Given the description of an element on the screen output the (x, y) to click on. 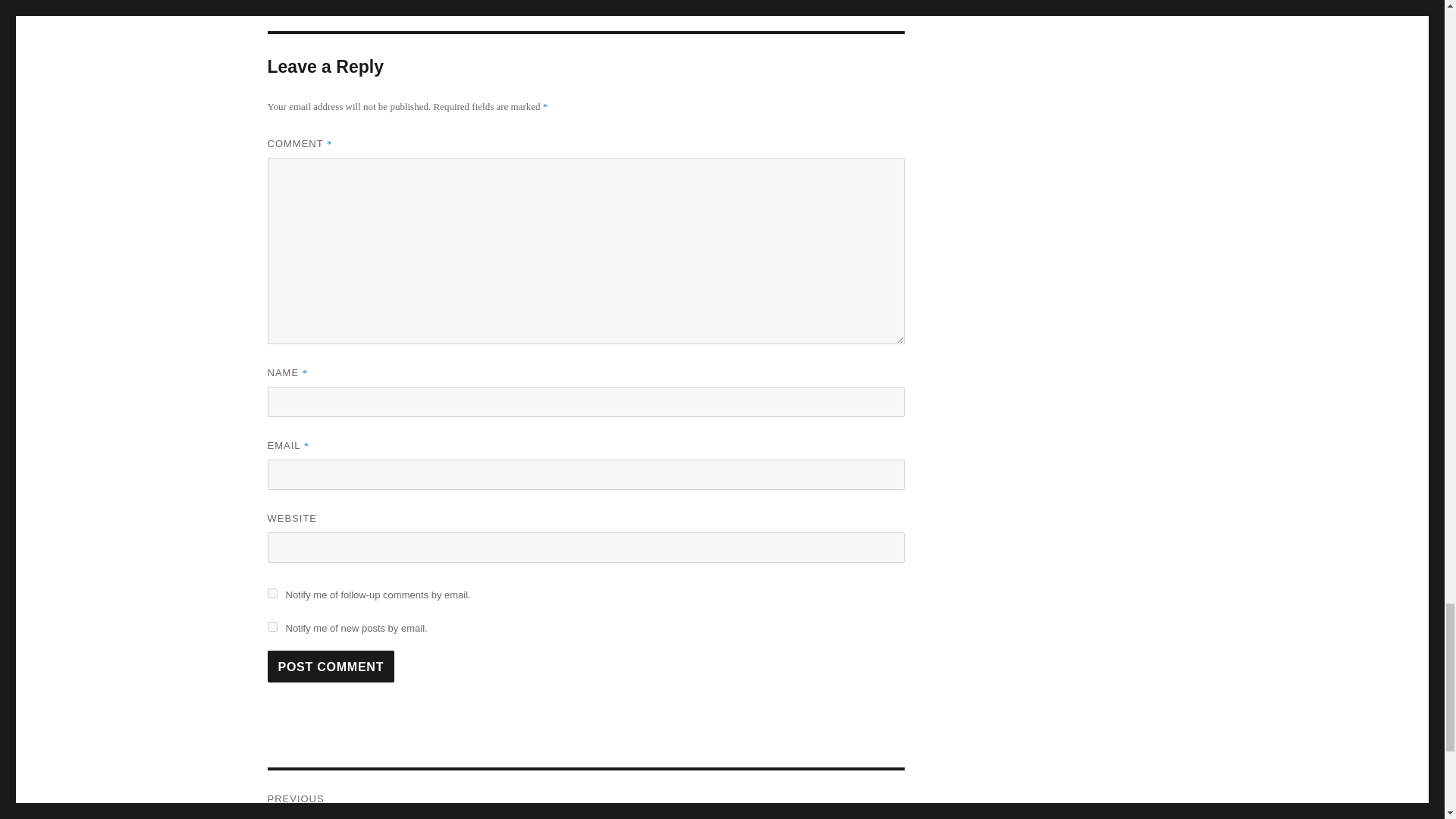
subscribe (271, 626)
Post Comment (330, 666)
Post Comment (330, 666)
subscribe (271, 593)
